Given the description of an element on the screen output the (x, y) to click on. 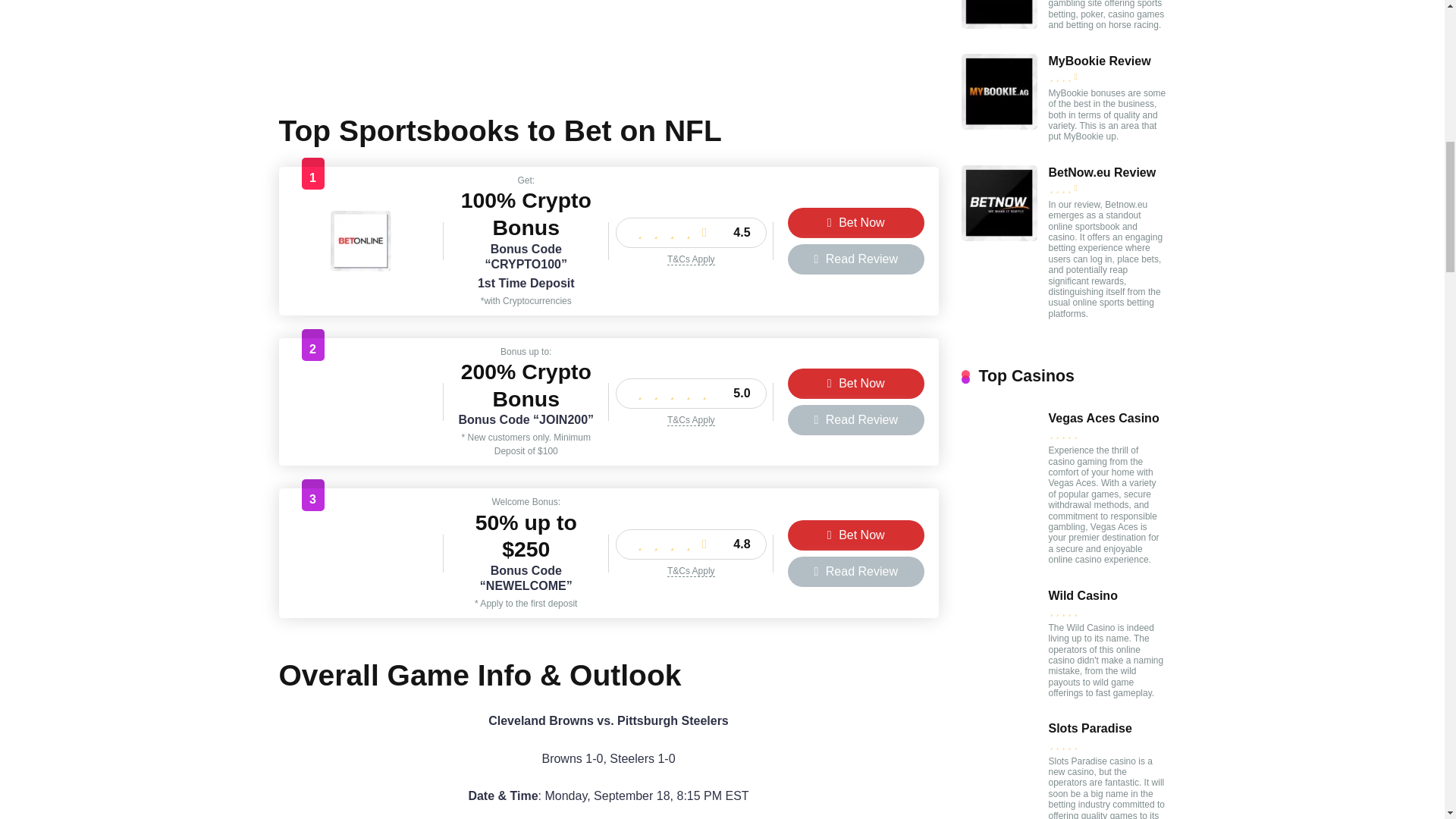
BetUS Review (360, 427)
Bovada Review (360, 579)
Read Review (855, 571)
Read Review (855, 259)
Read Review (855, 419)
Bet Now (855, 383)
BetOnline Sportsbook Review (360, 267)
Bet Now (855, 223)
Bet Now (855, 535)
